Given the description of an element on the screen output the (x, y) to click on. 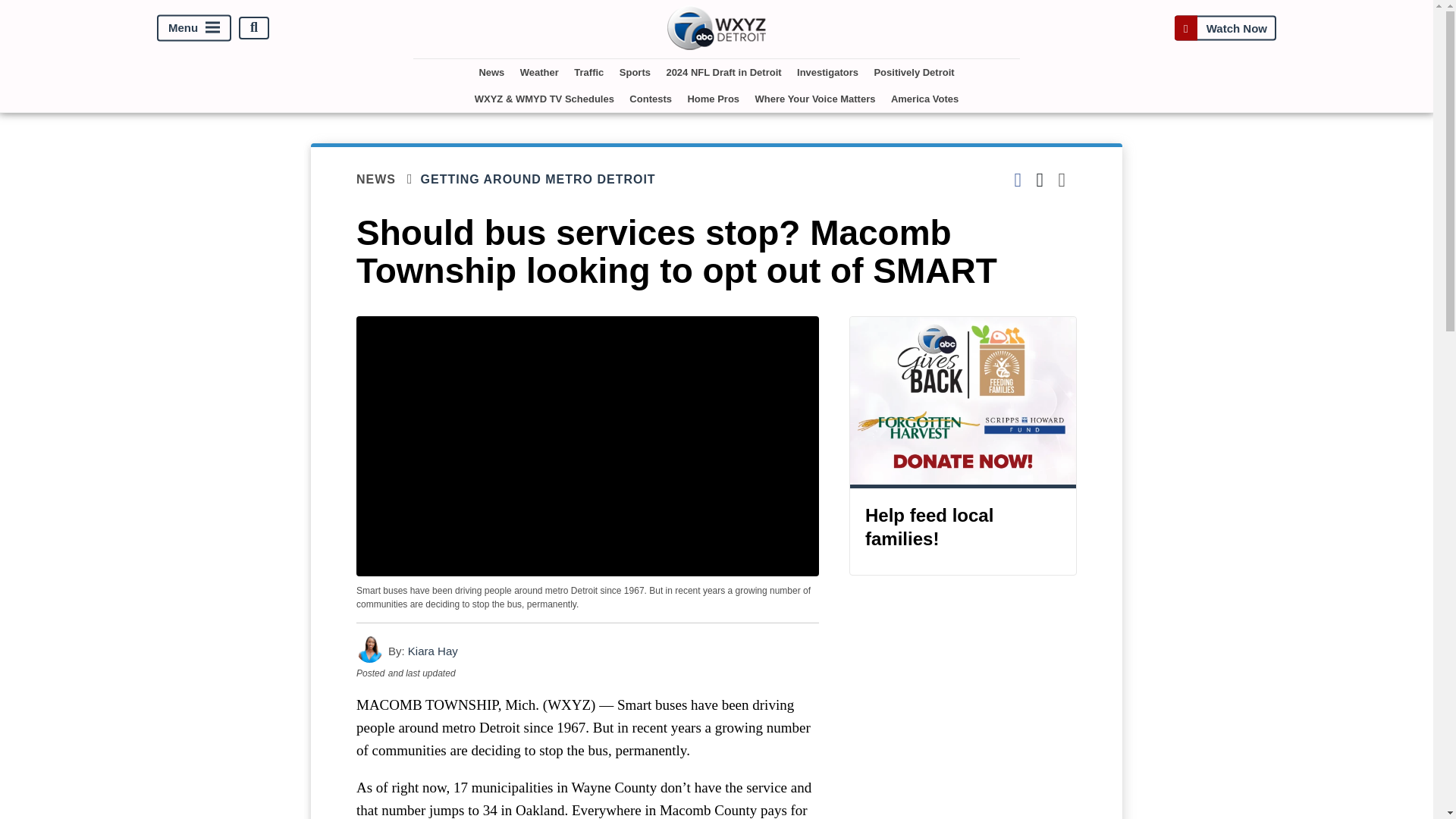
Watch Now (1224, 27)
Menu (194, 27)
